Given the description of an element on the screen output the (x, y) to click on. 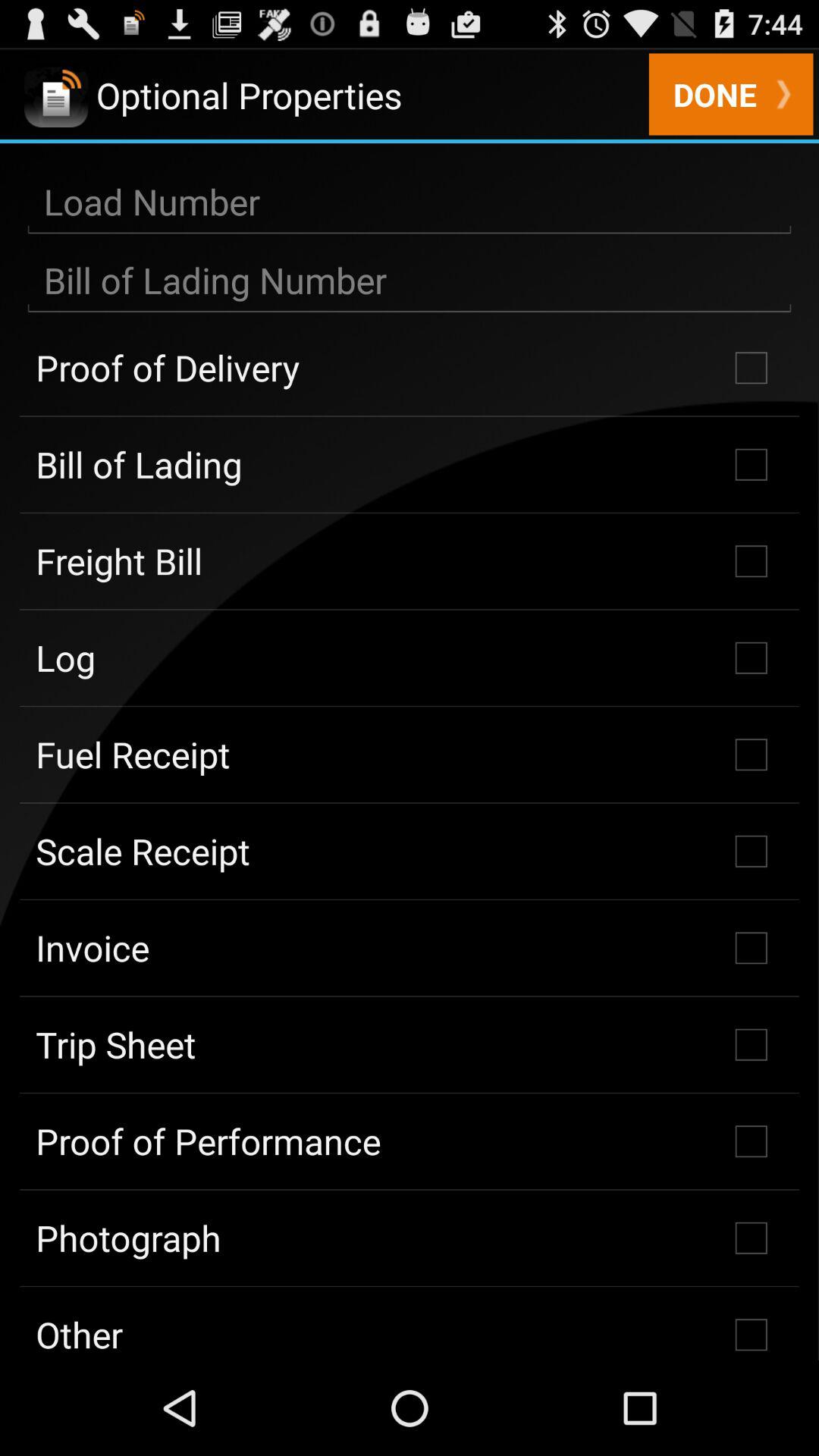
flip until scale receipt (409, 851)
